Given the description of an element on the screen output the (x, y) to click on. 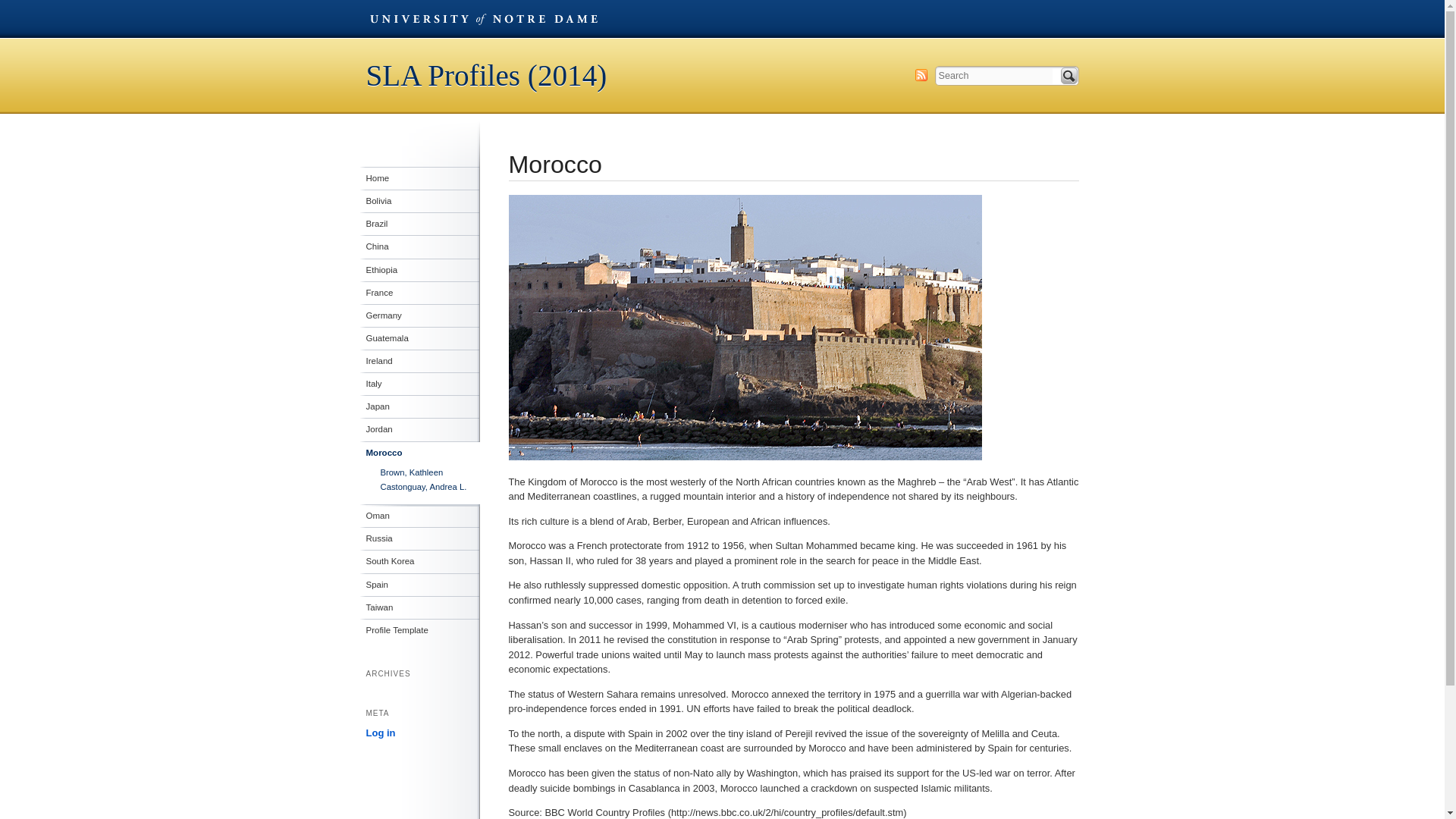
Subscribe (920, 74)
Germany (422, 314)
University of Notre Dame (482, 18)
Search (1068, 75)
China (422, 246)
Brazil (422, 223)
France (422, 292)
Bolivia (422, 200)
Home (422, 178)
Ethiopia (422, 268)
